Given the description of an element on the screen output the (x, y) to click on. 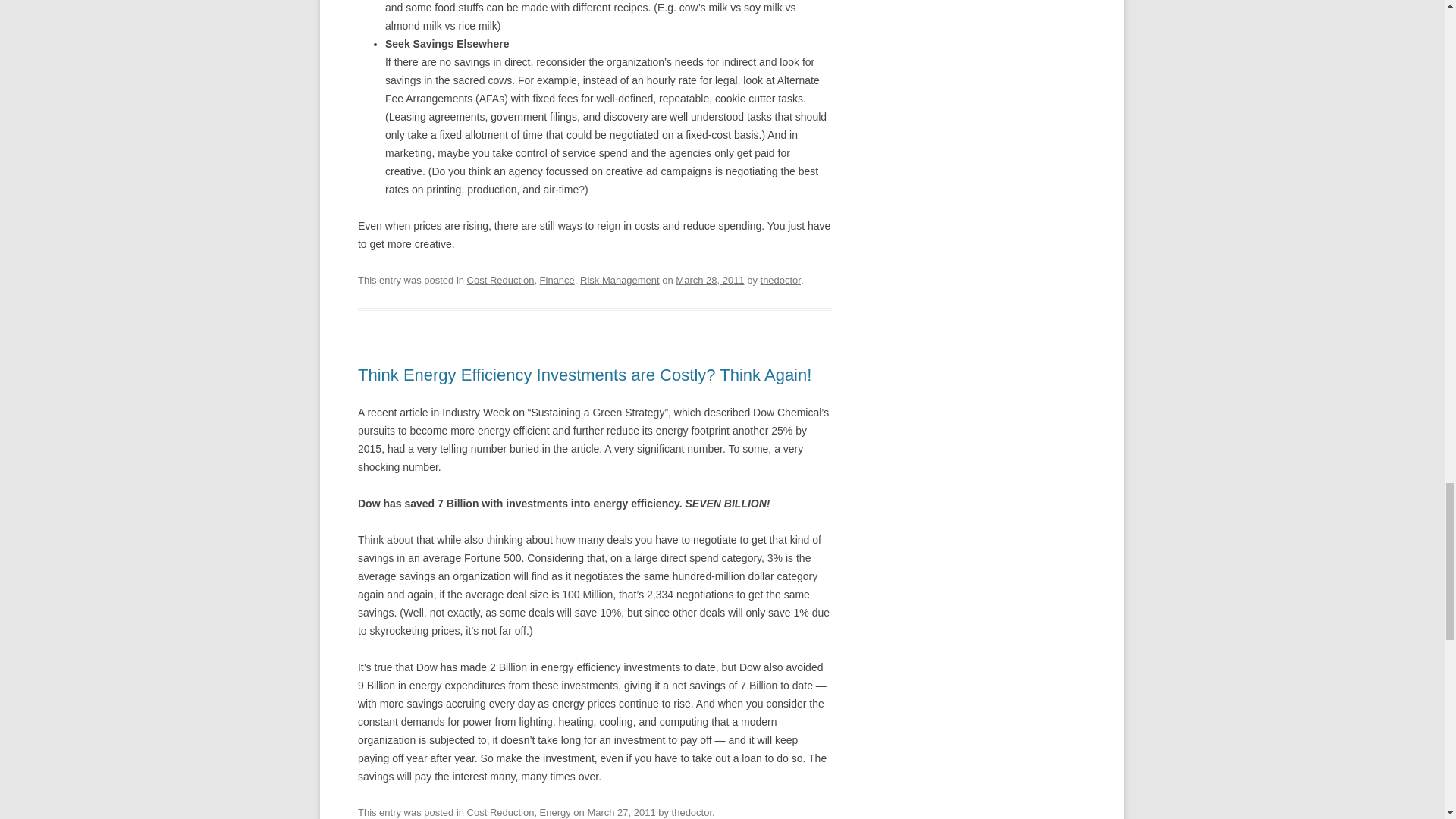
March 27, 2011 (620, 812)
thedoctor (780, 279)
4:00 pm (620, 812)
Cost Reduction (500, 279)
Finance (557, 279)
View all posts by thedoctor (691, 812)
Energy (555, 812)
View all posts by thedoctor (780, 279)
10:00 am (709, 279)
March 28, 2011 (709, 279)
